Given the description of an element on the screen output the (x, y) to click on. 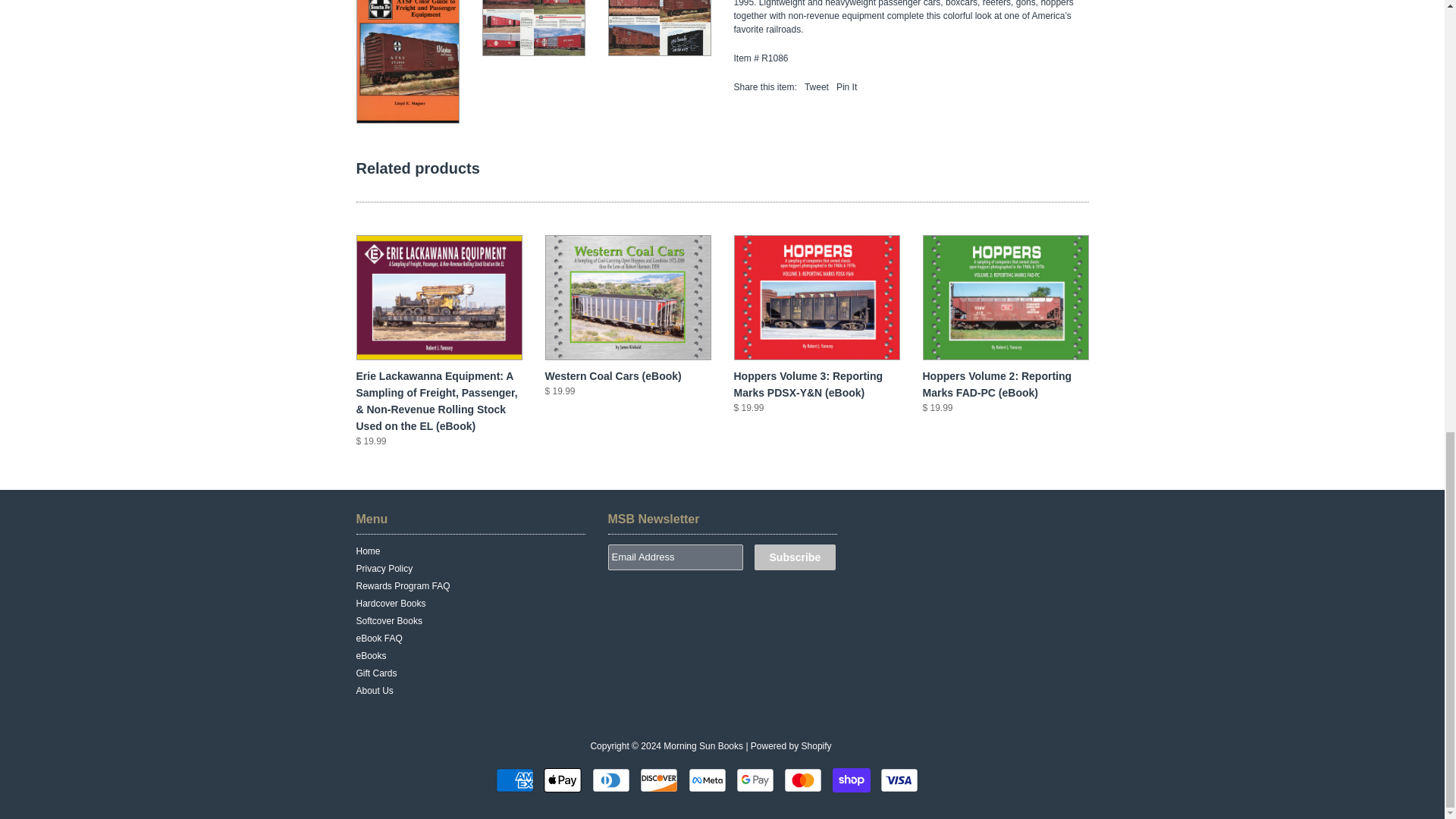
Home (368, 551)
Privacy Policy (384, 568)
Pin It (846, 86)
Hardcover Books (391, 603)
Gift Cards (376, 673)
eBook FAQ (379, 638)
Softcover Books (389, 620)
eBooks (371, 655)
Tweet (816, 86)
Rewards Program FAQ (402, 585)
About Us (374, 690)
Subscribe (794, 557)
